Given the description of an element on the screen output the (x, y) to click on. 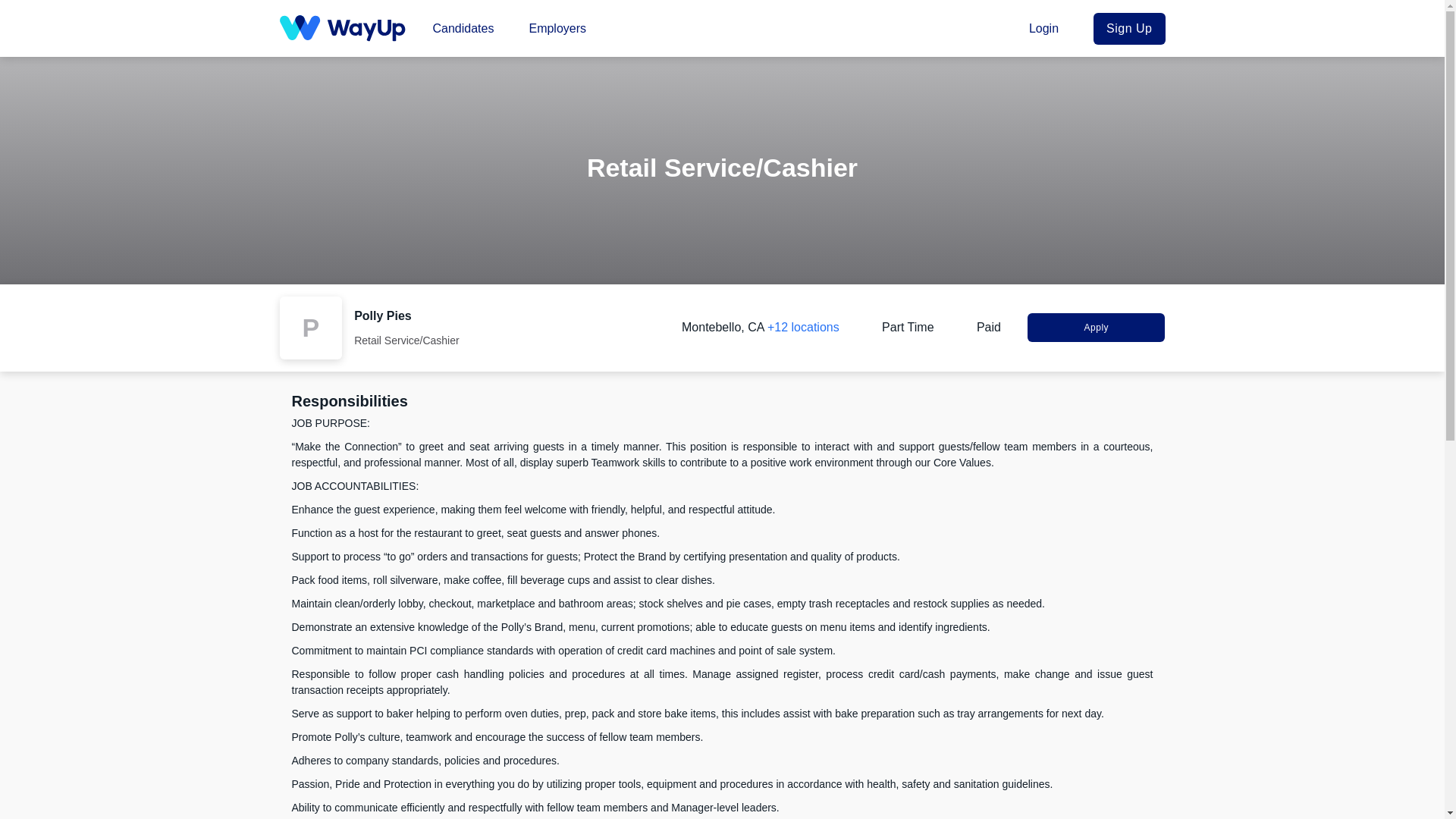
P (310, 327)
Sign Up (1128, 28)
Sign Up (1128, 28)
Apply (1095, 327)
Apply (1095, 327)
Login (1048, 27)
